Given the description of an element on the screen output the (x, y) to click on. 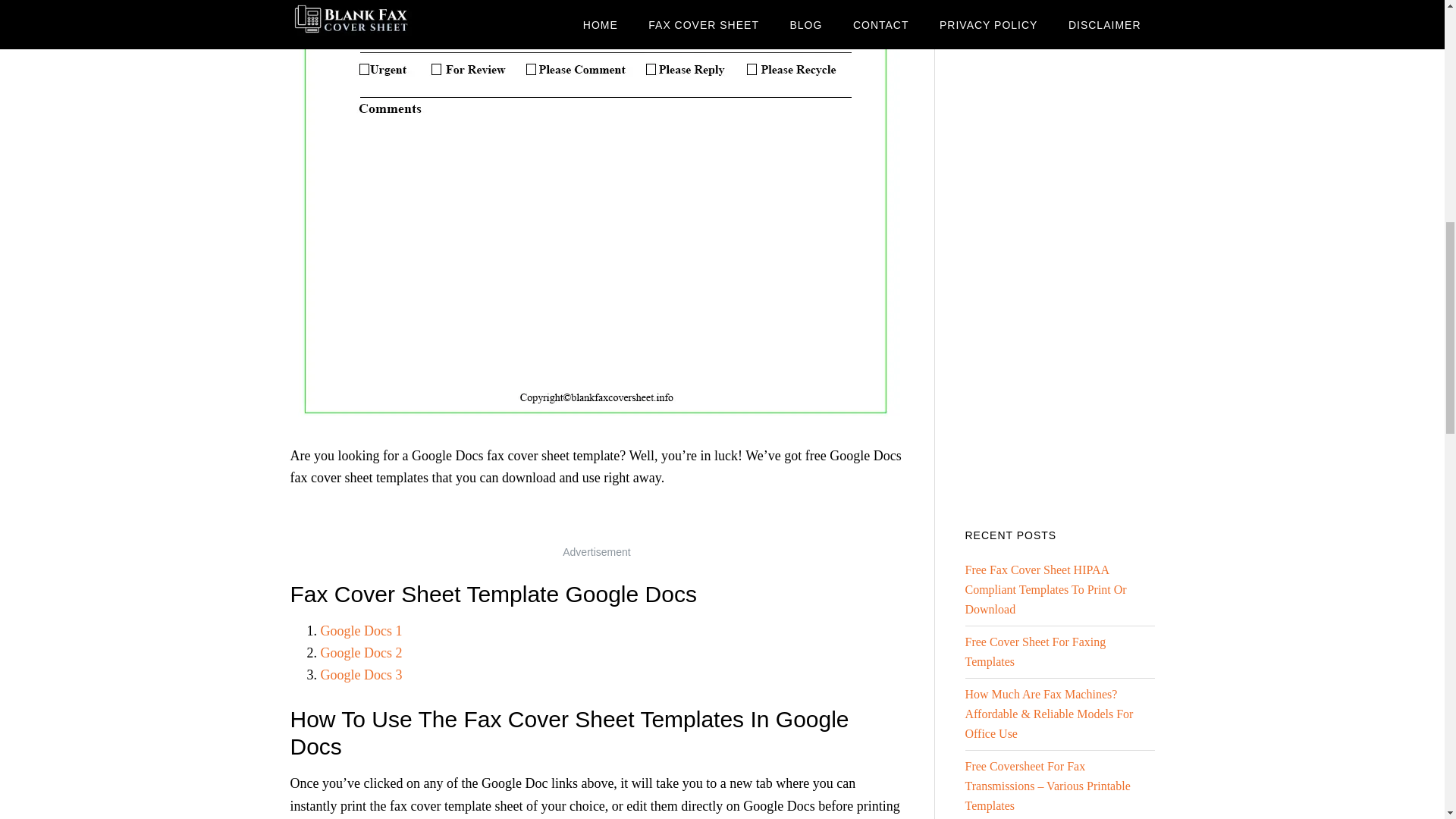
Google Docs 2 (360, 652)
Free Cover Sheet For Faxing Templates (1034, 651)
Google Docs 1 (360, 630)
Google Docs 3 (360, 674)
